Given the description of an element on the screen output the (x, y) to click on. 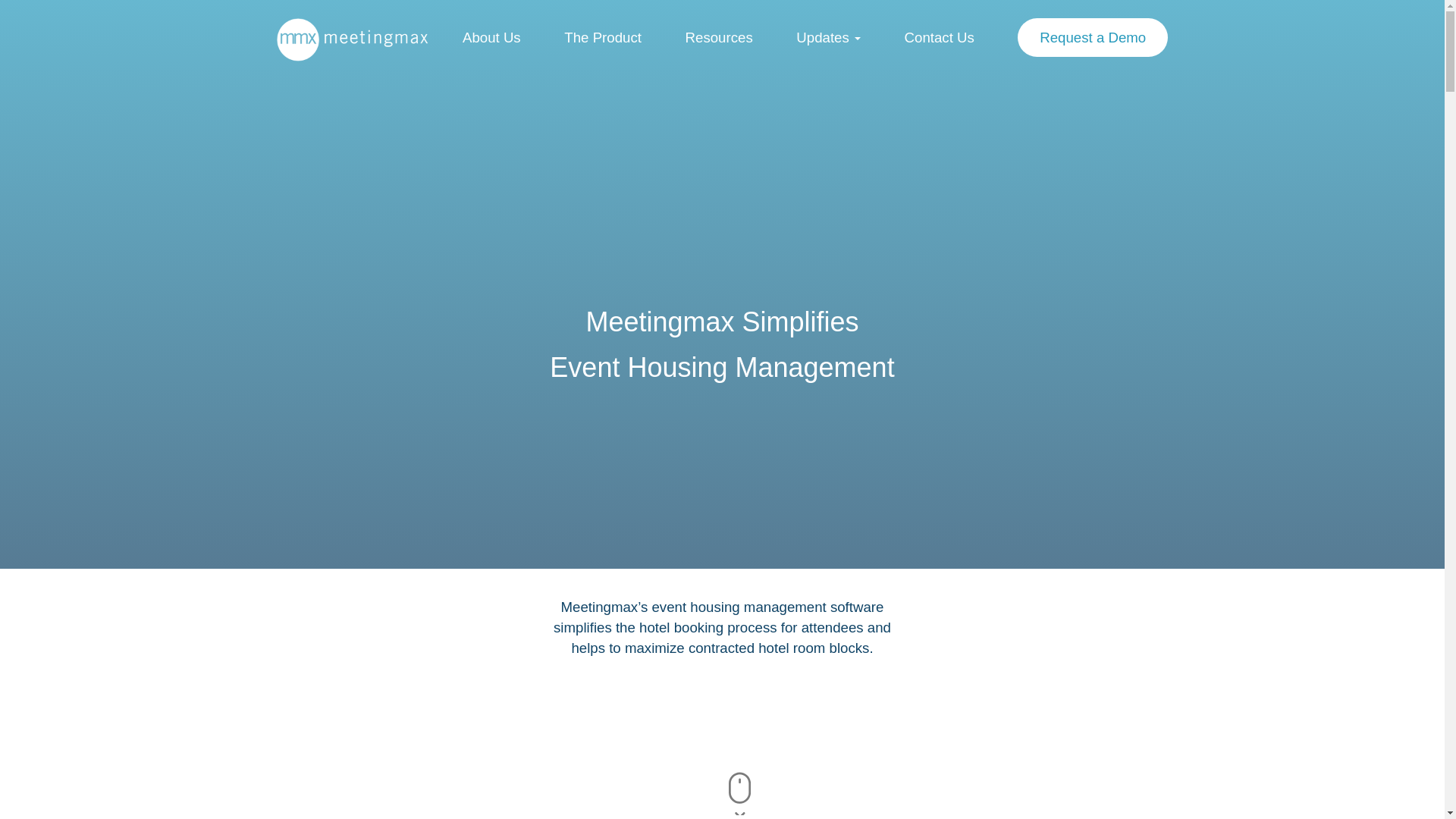
About Us Element type: text (491, 37)
Contact Us Element type: text (939, 37)
Resources Element type: text (719, 37)
The Product Element type: text (602, 37)
Updates Element type: text (828, 37)
Request a Demo Element type: text (1092, 37)
